Given the description of an element on the screen output the (x, y) to click on. 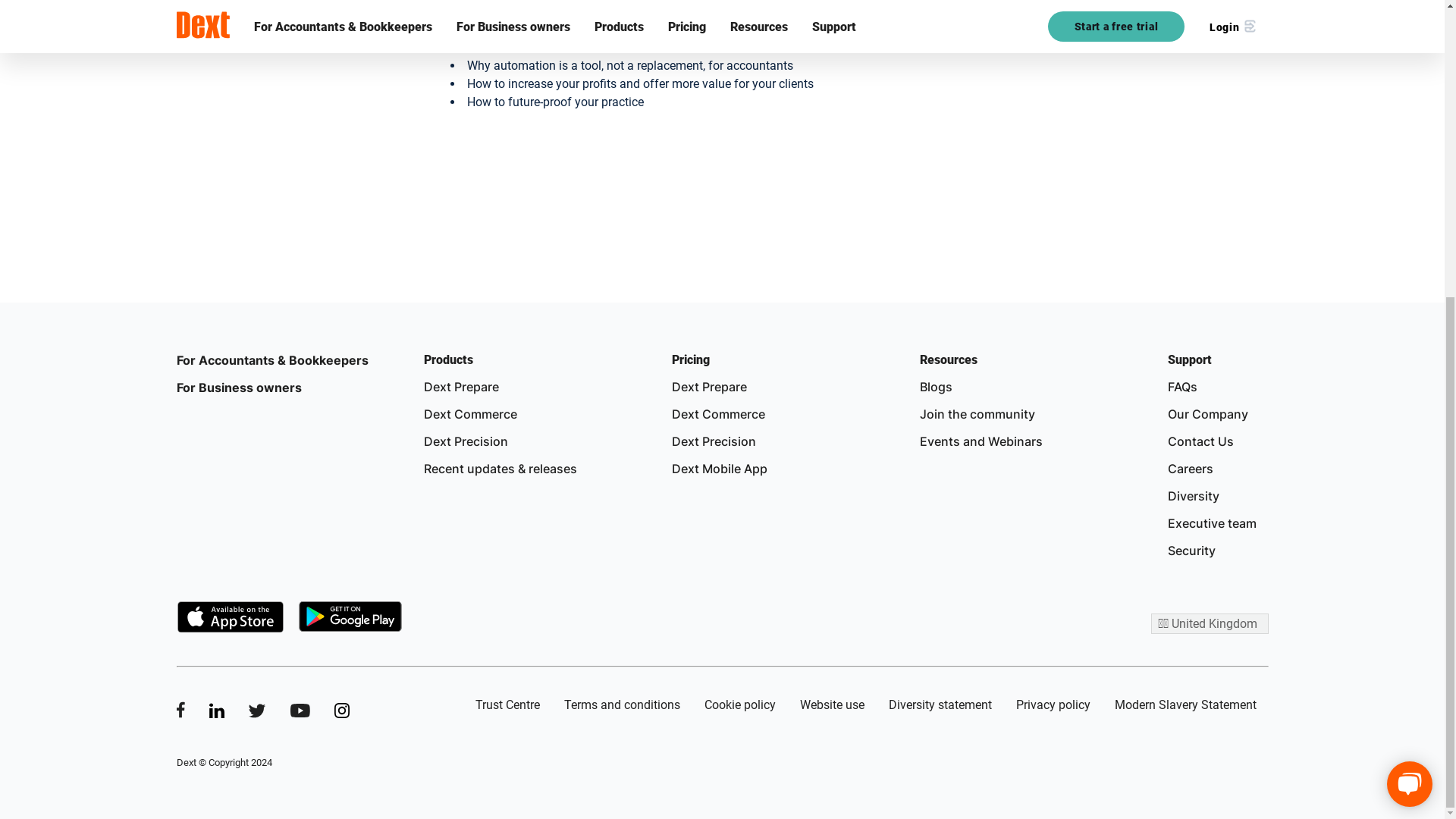
Dext Commerce (469, 413)
Dext Precision (713, 441)
FAQs (1181, 386)
Events and Webinars (981, 441)
Our Company (1207, 413)
Dext Prepare (708, 386)
For Business owners (238, 387)
Join the community (977, 413)
Dext Prepare (461, 386)
Dext Precision (465, 441)
